Given the description of an element on the screen output the (x, y) to click on. 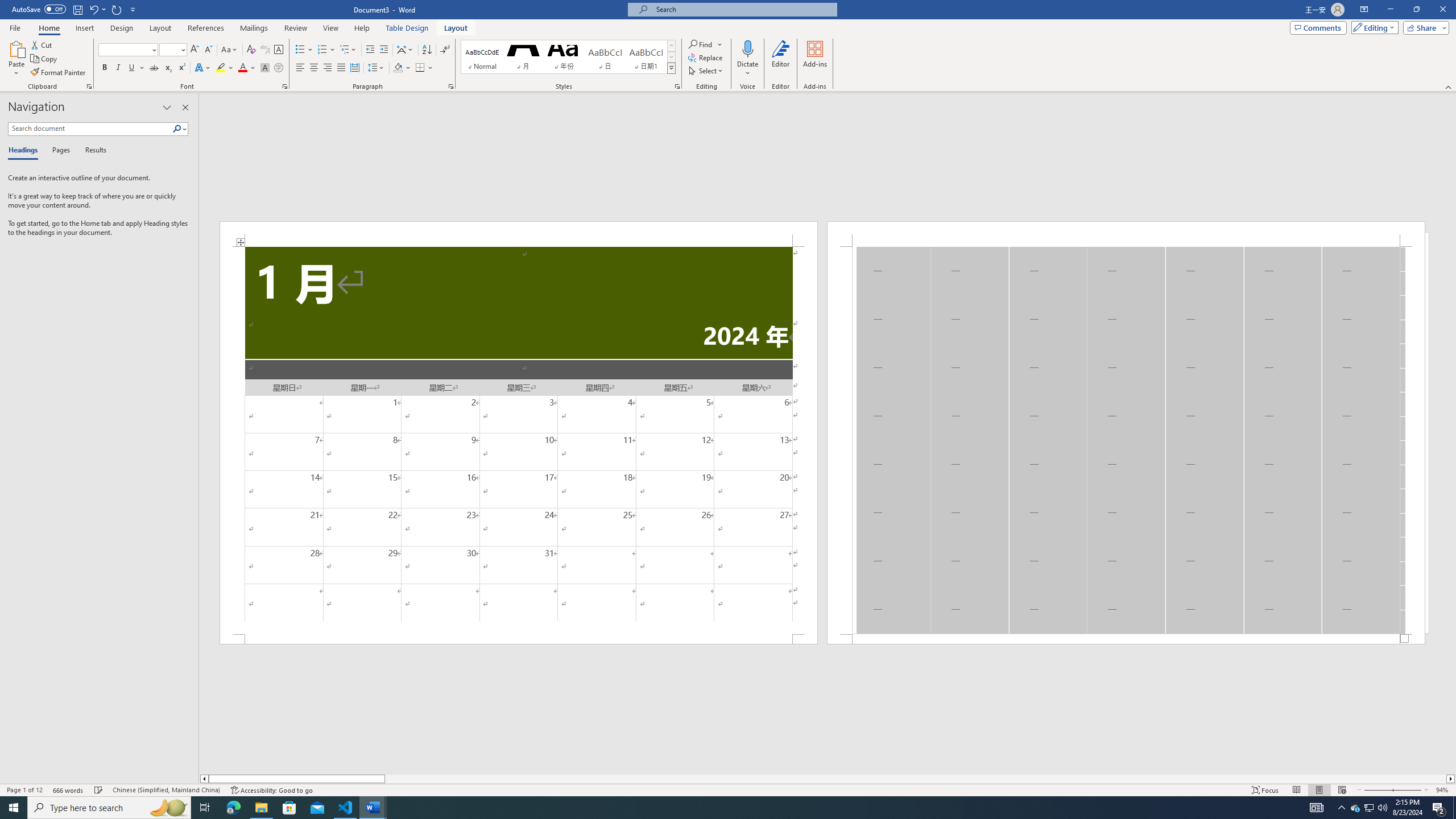
Page right (914, 778)
